Given the description of an element on the screen output the (x, y) to click on. 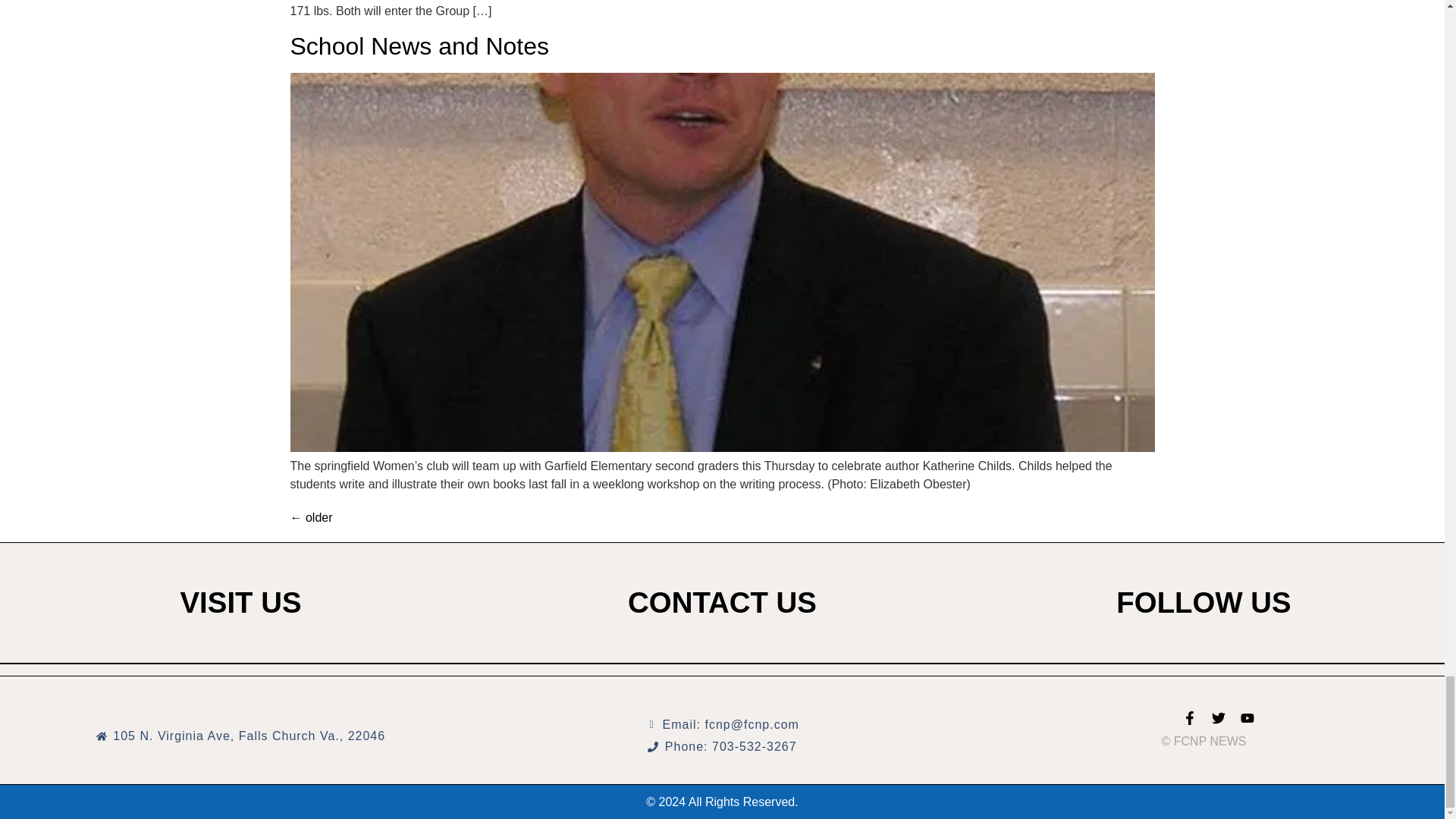
School News and Notes (418, 45)
